Given the description of an element on the screen output the (x, y) to click on. 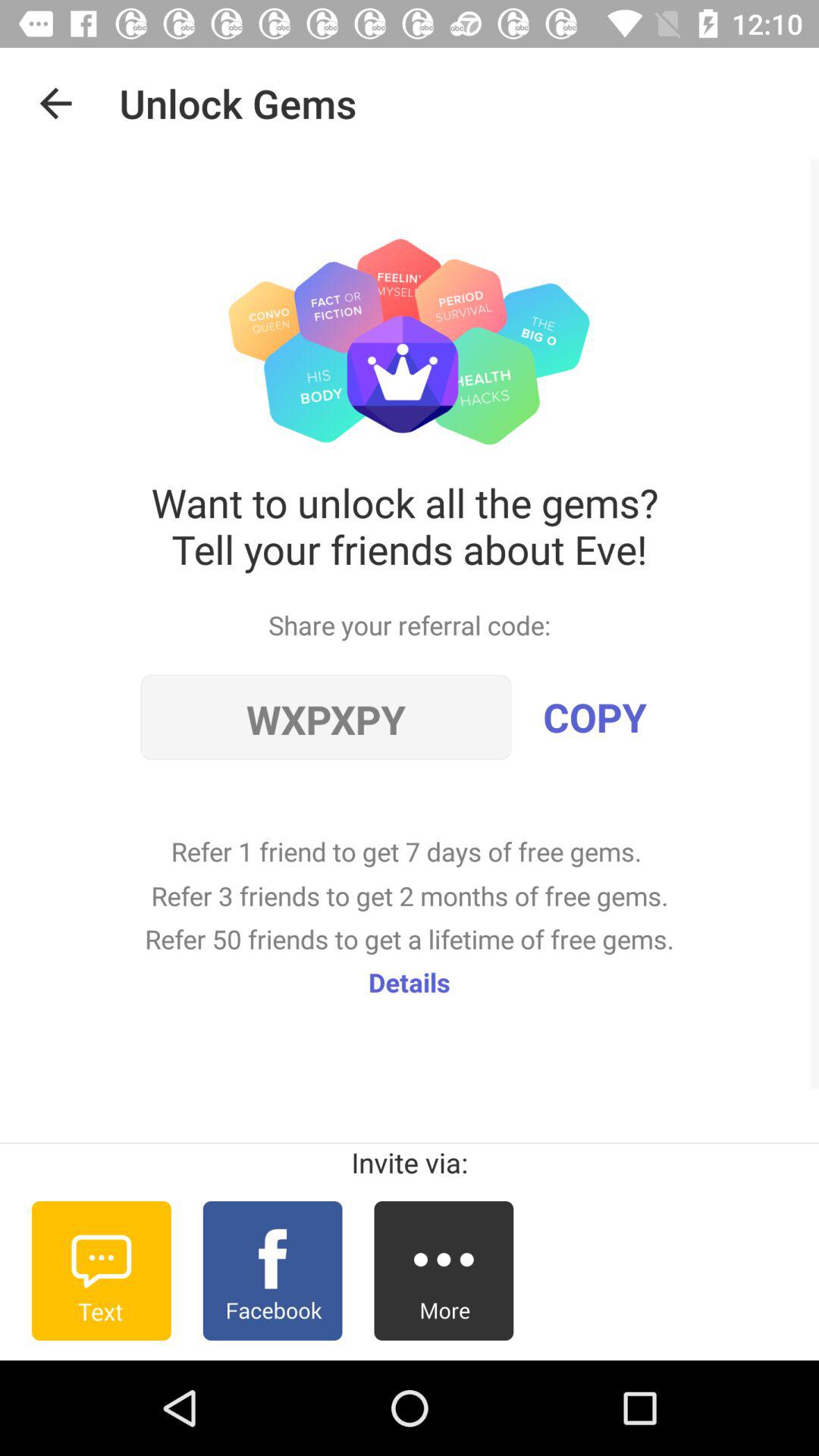
tap item below the invite via: item (101, 1270)
